Given the description of an element on the screen output the (x, y) to click on. 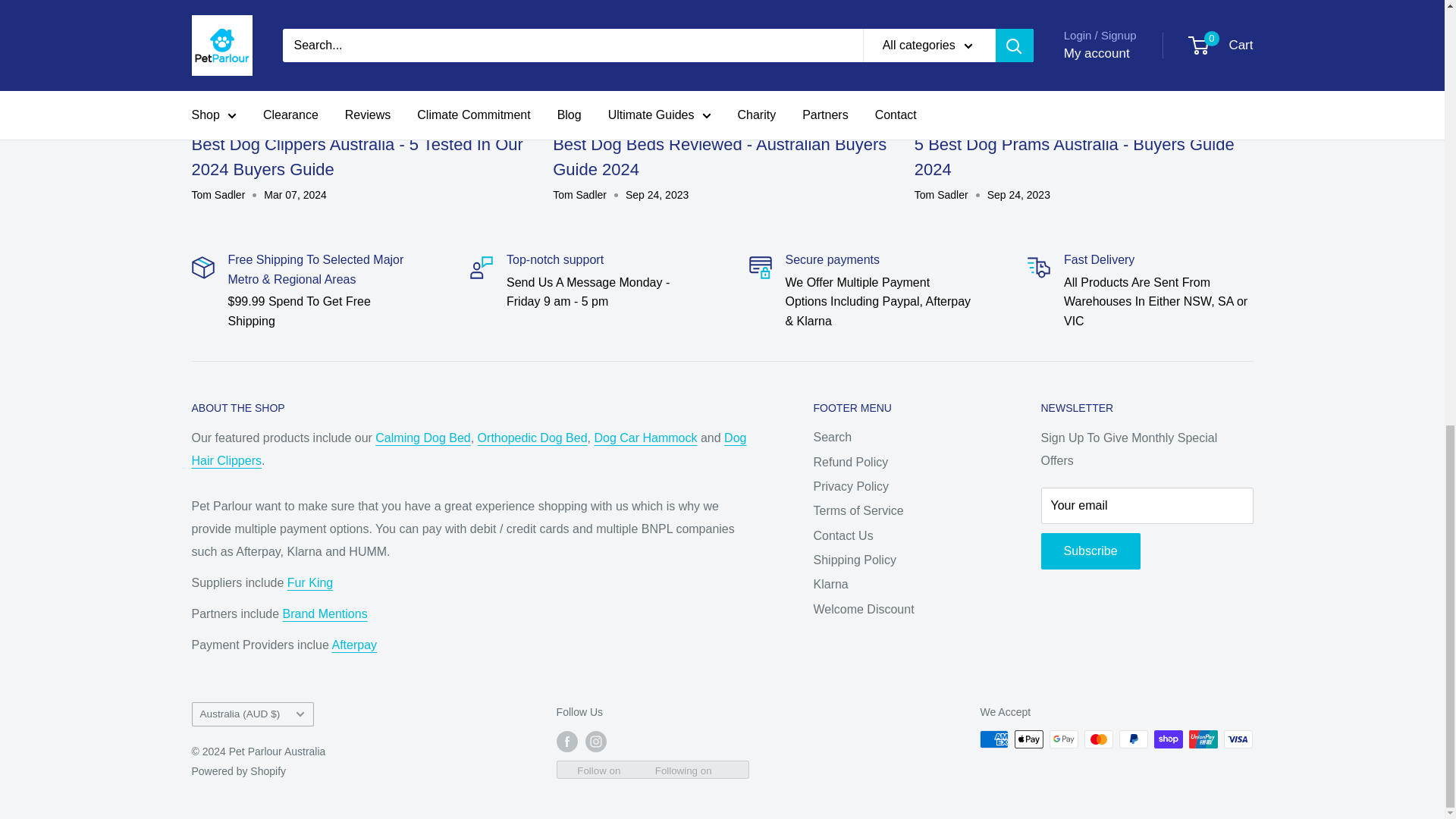
Calming Dog Bed (422, 437)
Orthopedic Dog Bed (532, 437)
Dog Car Hammock (645, 437)
Dog Hair Clippers (467, 448)
